Given the description of an element on the screen output the (x, y) to click on. 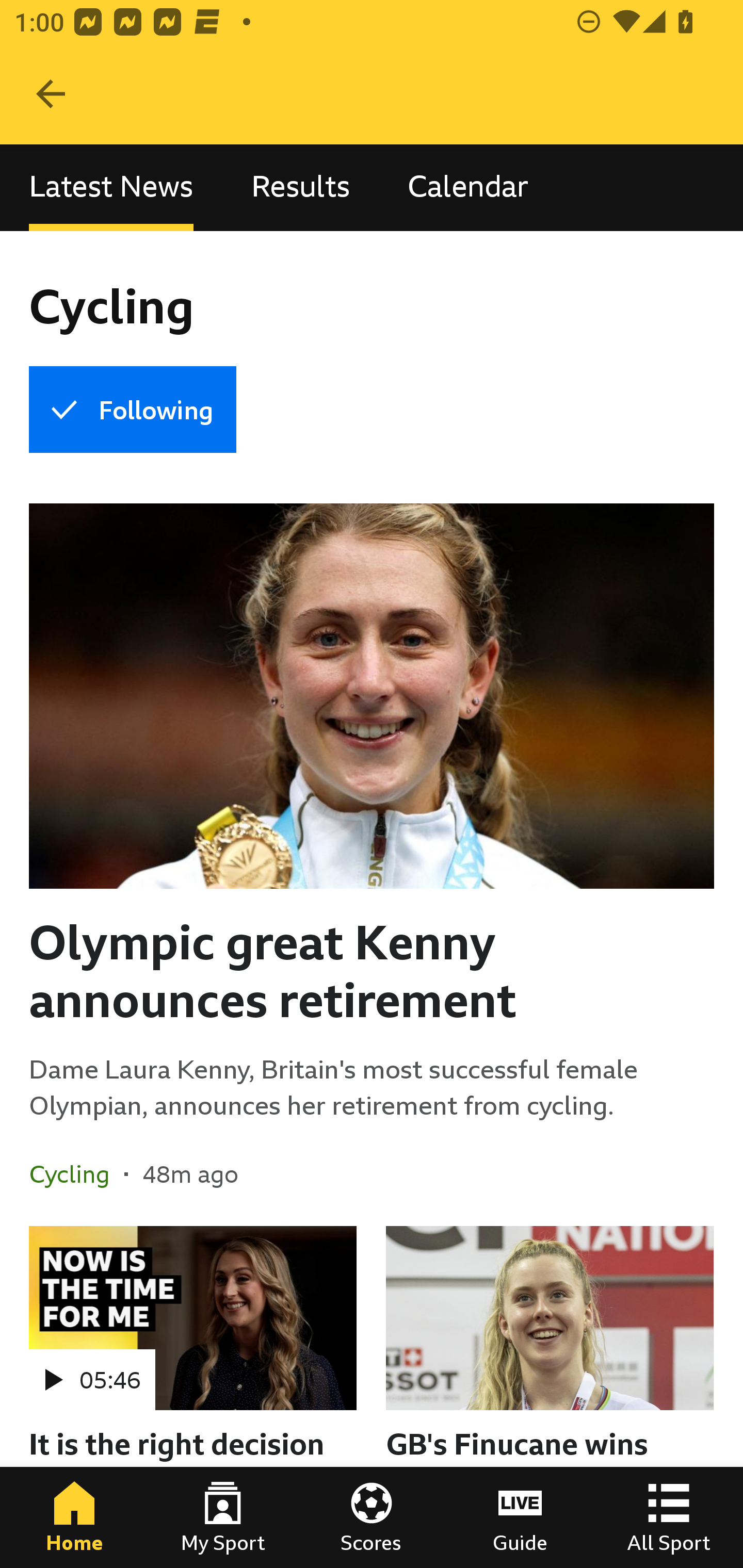
Navigate up (50, 93)
Latest News, selected Latest News (111, 187)
Results (300, 187)
Calendar (467, 187)
Following Cycling Following (132, 409)
My Sport (222, 1517)
Scores (371, 1517)
Guide (519, 1517)
All Sport (668, 1517)
